Given the description of an element on the screen output the (x, y) to click on. 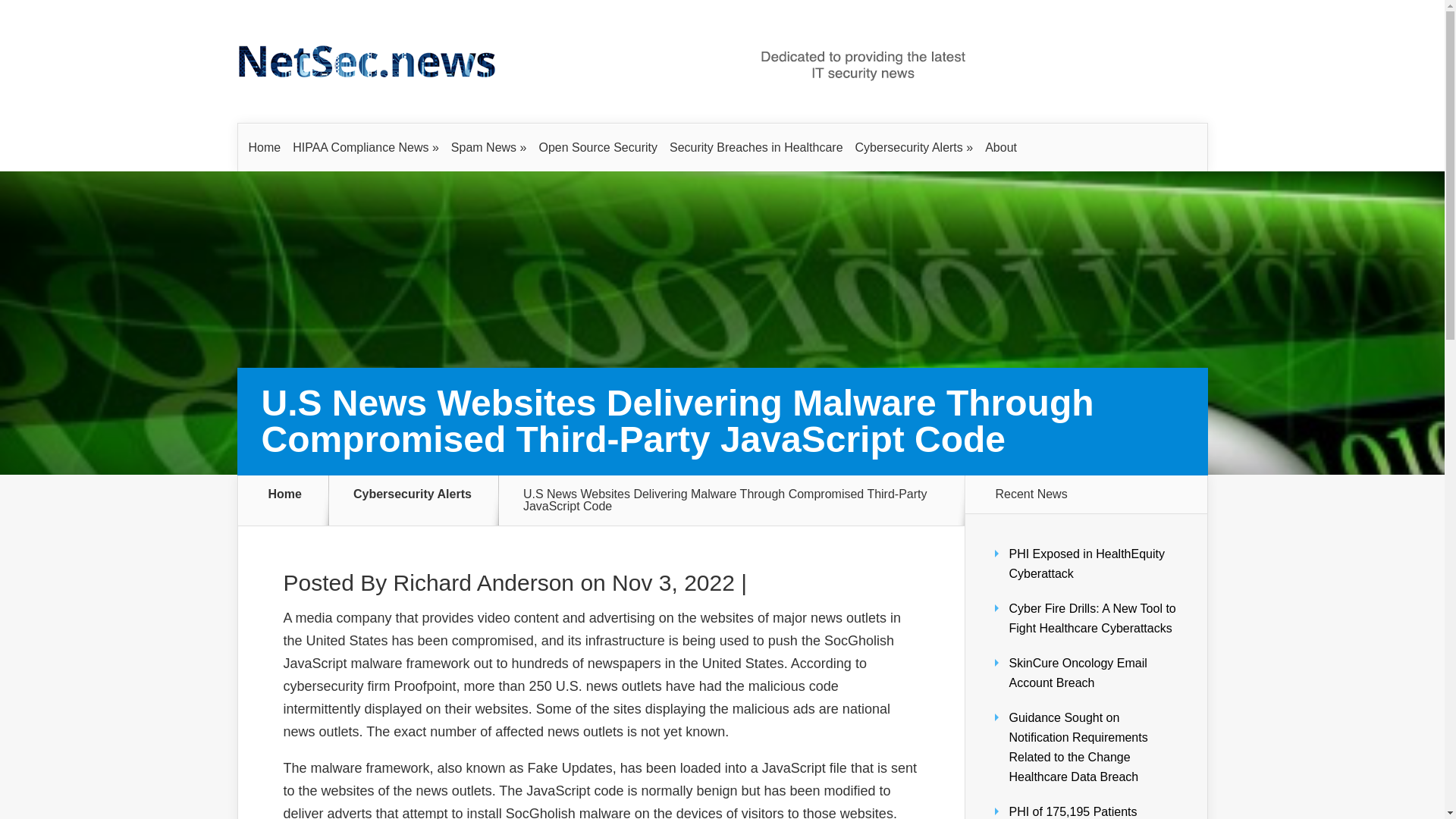
HIPAA Compliance News (365, 147)
Spam News (488, 147)
Posts by Richard Anderson (483, 582)
Open Source Security (597, 147)
Home (264, 147)
Security Breaches in Healthcare (755, 147)
Cybersecurity Alerts (913, 147)
